Given the description of an element on the screen output the (x, y) to click on. 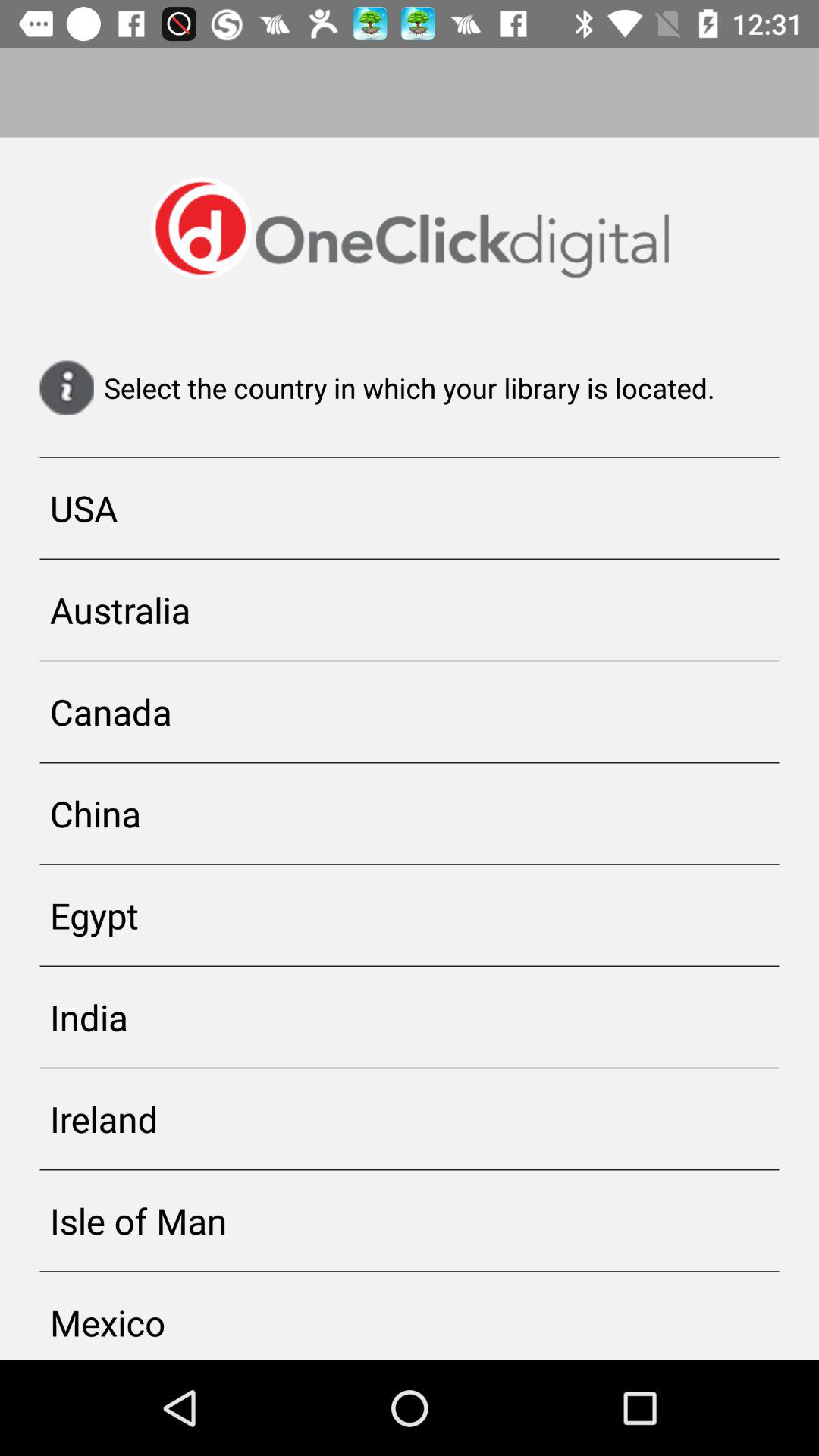
scroll until the canada app (409, 711)
